Given the description of an element on the screen output the (x, y) to click on. 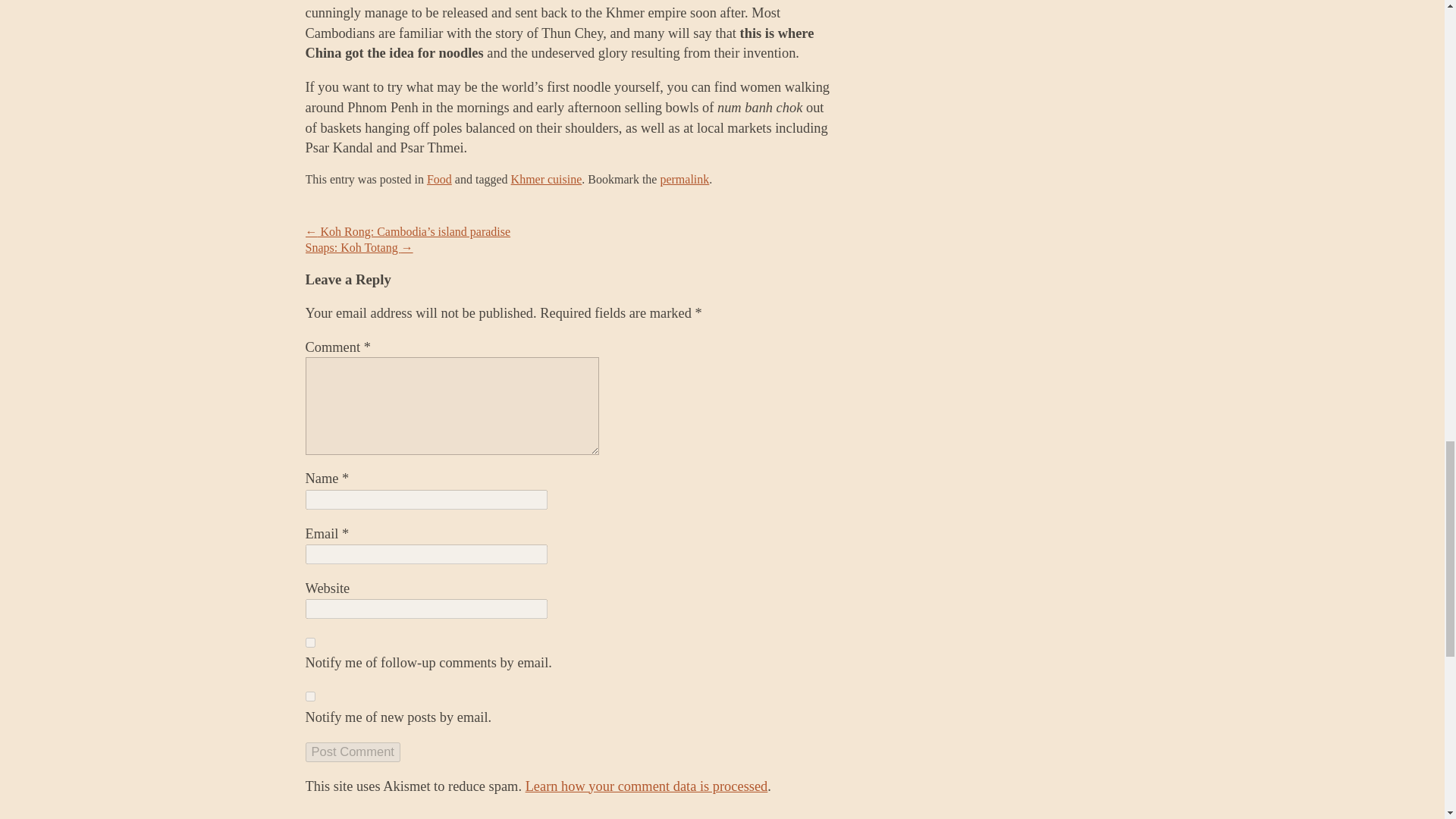
subscribe (309, 696)
Post Comment (351, 752)
Learn how your comment data is processed (646, 785)
Food (438, 178)
Khmer cuisine (546, 178)
Post Comment (351, 752)
subscribe (309, 642)
Permalink to Khmer noodles: The story of num banh chok (684, 178)
permalink (684, 178)
